Given the description of an element on the screen output the (x, y) to click on. 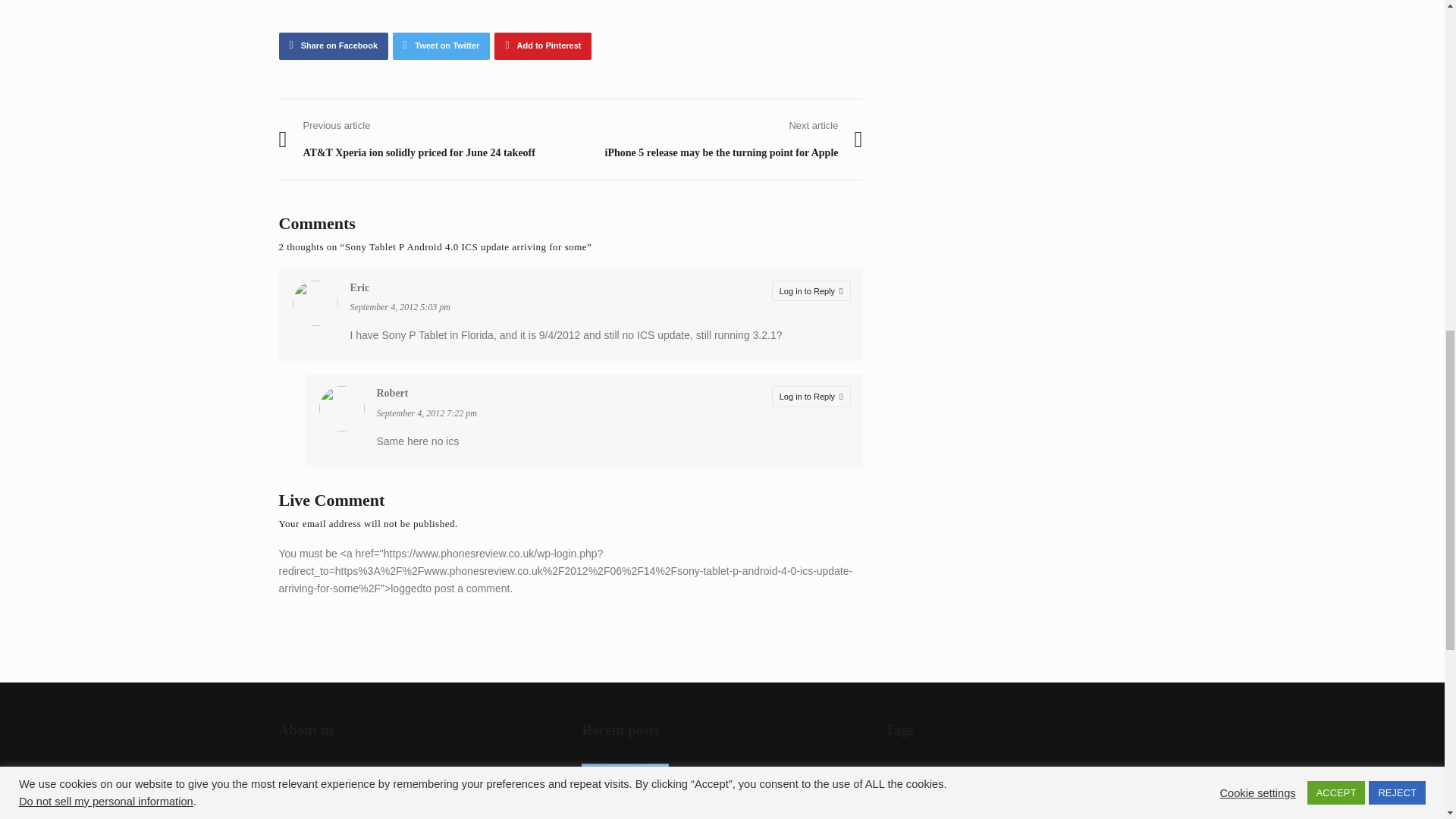
Tweet on Twitter (441, 45)
Log in to Reply (810, 396)
Add to Pinterest (543, 45)
Log in to Reply (810, 291)
September 4, 2012 5:03 pm (399, 307)
September 4, 2012 7:22 pm (425, 412)
Share on Facebook (333, 45)
